Given the description of an element on the screen output the (x, y) to click on. 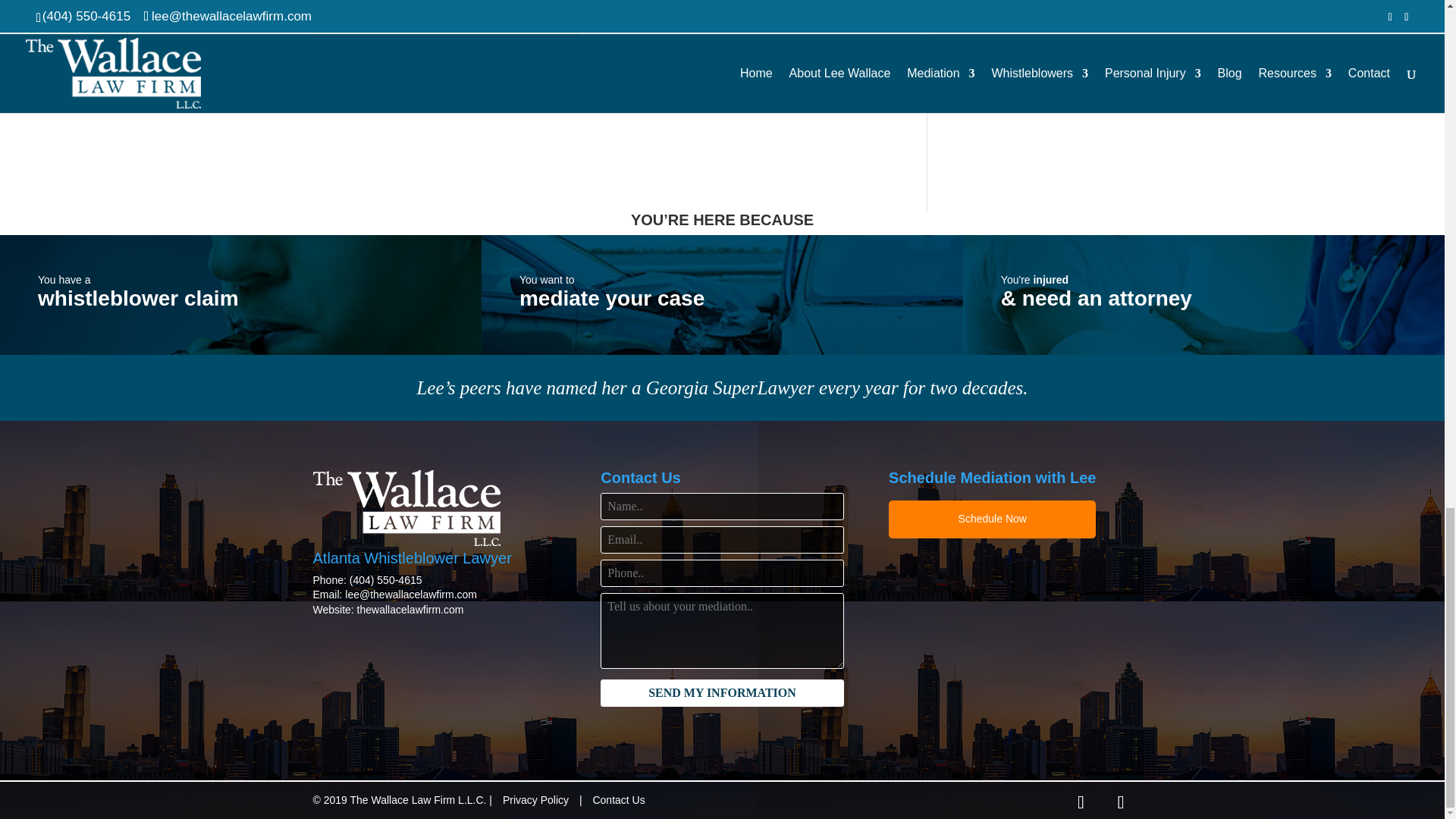
Submit Comment (815, 76)
SEND MY INFORMATION (721, 692)
The Wallace Law Firm, LLC (406, 508)
